Given the description of an element on the screen output the (x, y) to click on. 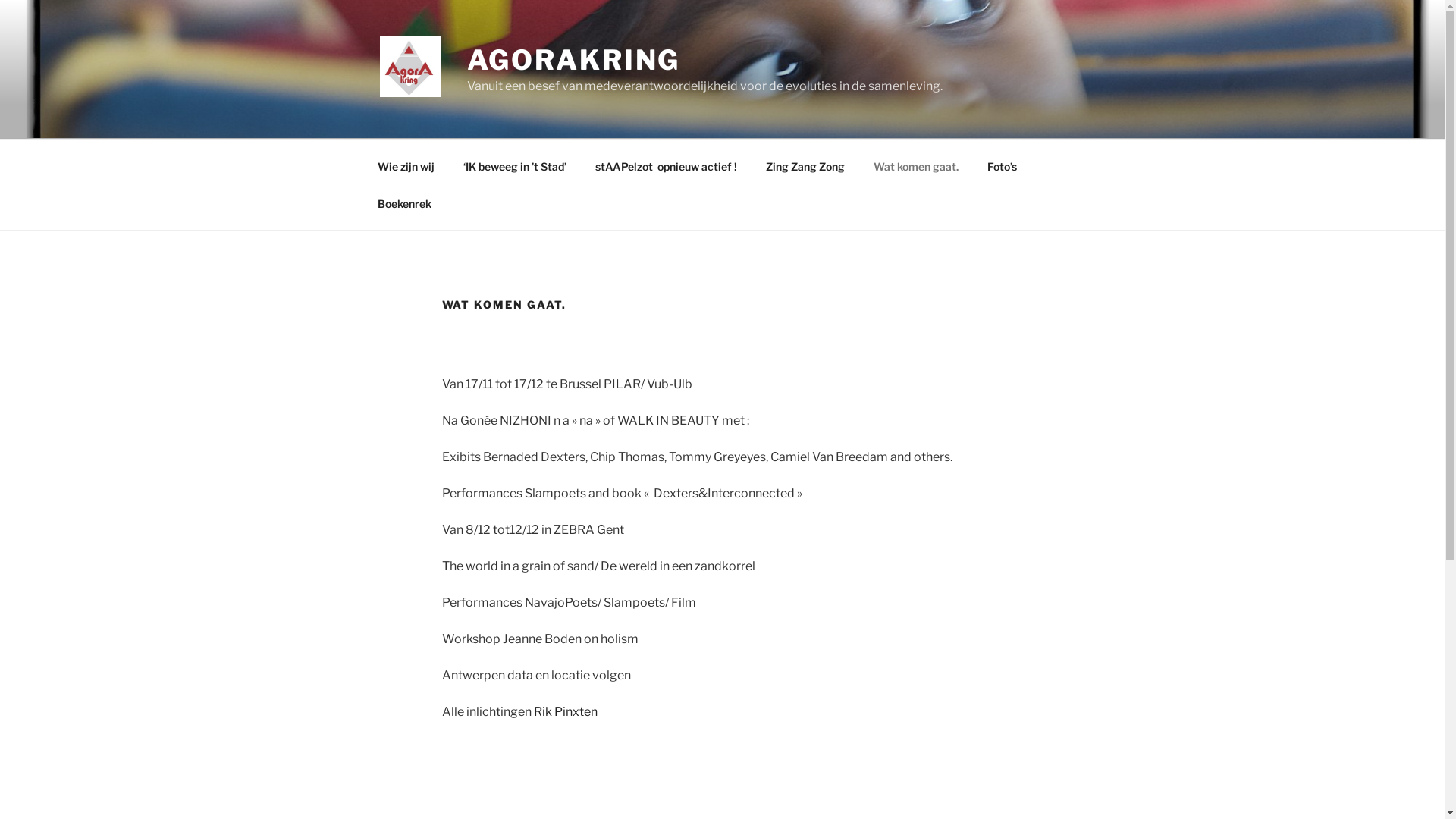
Wat komen gaat. Element type: text (915, 165)
stAAPelzot  opnieuw actief ! Element type: text (666, 165)
Boekenrek Element type: text (404, 203)
Rik Pinxten Element type: text (565, 711)
Zing Zang Zong Element type: text (804, 165)
Wie zijn wij Element type: text (405, 165)
AGORAKRING Element type: text (573, 59)
